Given the description of an element on the screen output the (x, y) to click on. 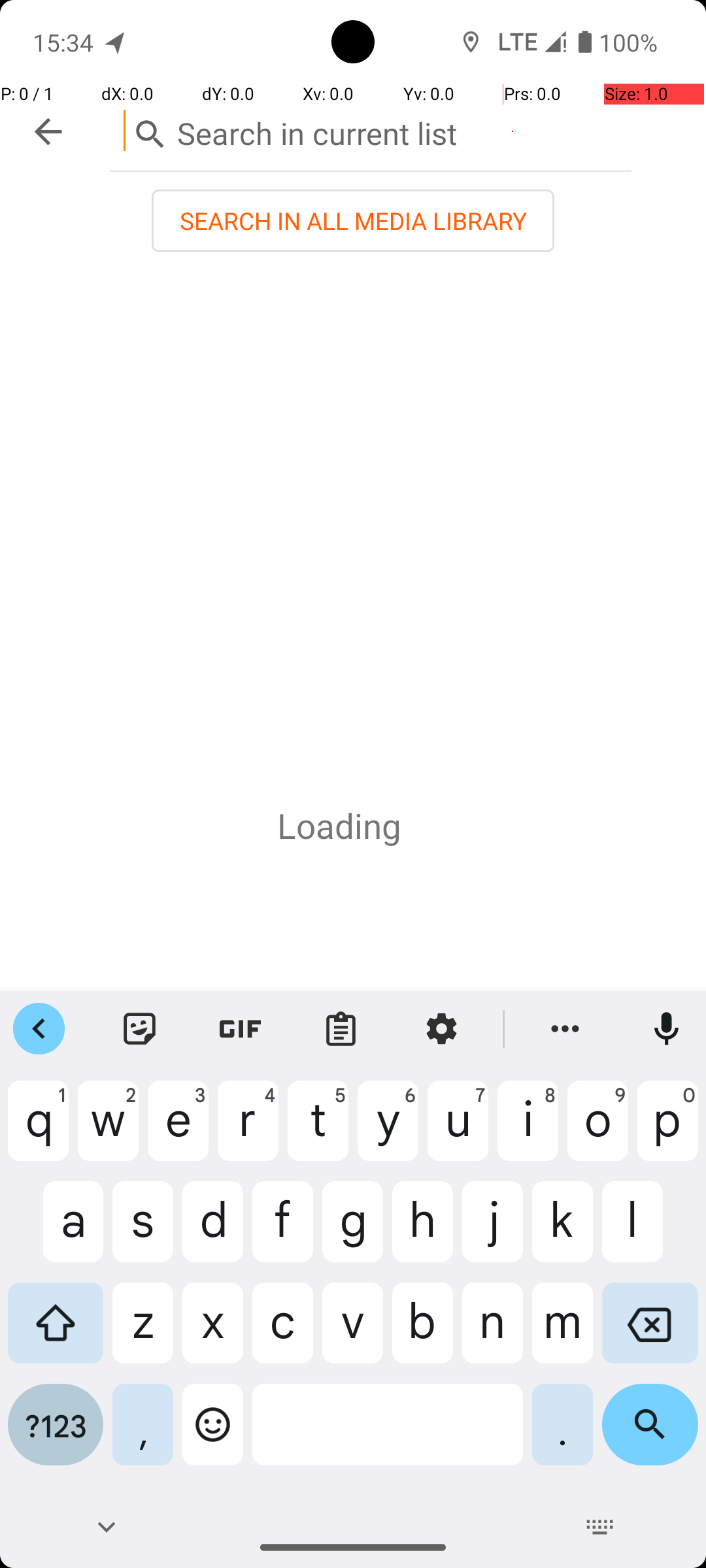
SEARCH IN ALL MEDIA LIBRARY Element type: android.widget.Button (352, 220)
   Search in current list Element type: android.widget.AutoCompleteTextView (370, 130)
